Given the description of an element on the screen output the (x, y) to click on. 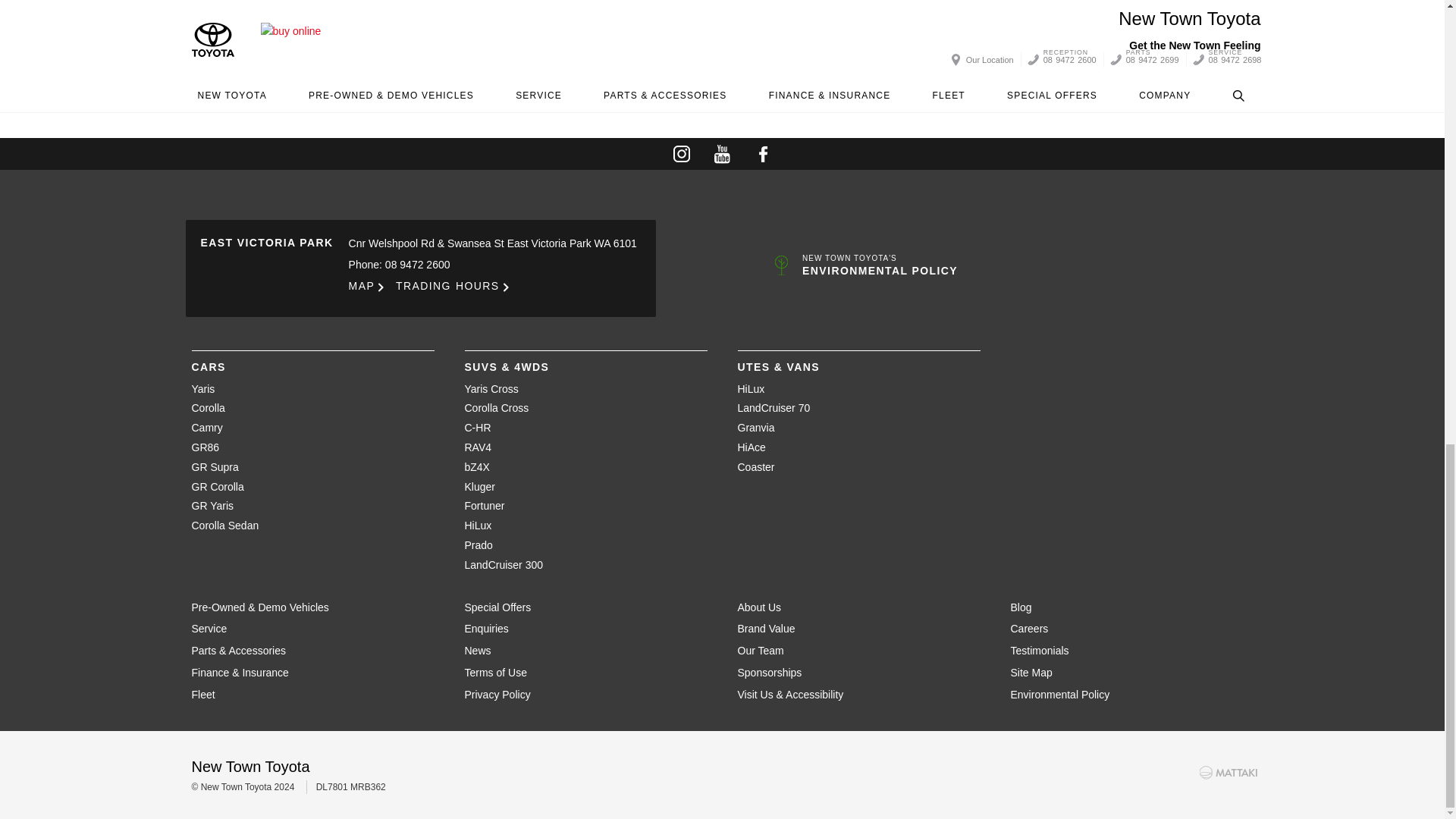
Become a Friend on Facebook (763, 153)
Follow Us on Instagram (681, 153)
Visit our YouTube Channel (722, 153)
